Given the description of an element on the screen output the (x, y) to click on. 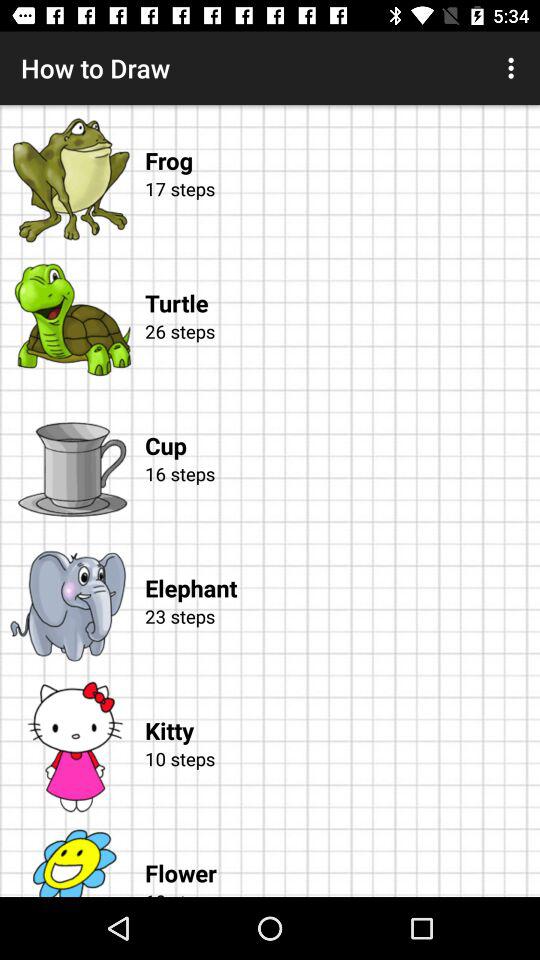
press the icon above the kitty (339, 639)
